Given the description of an element on the screen output the (x, y) to click on. 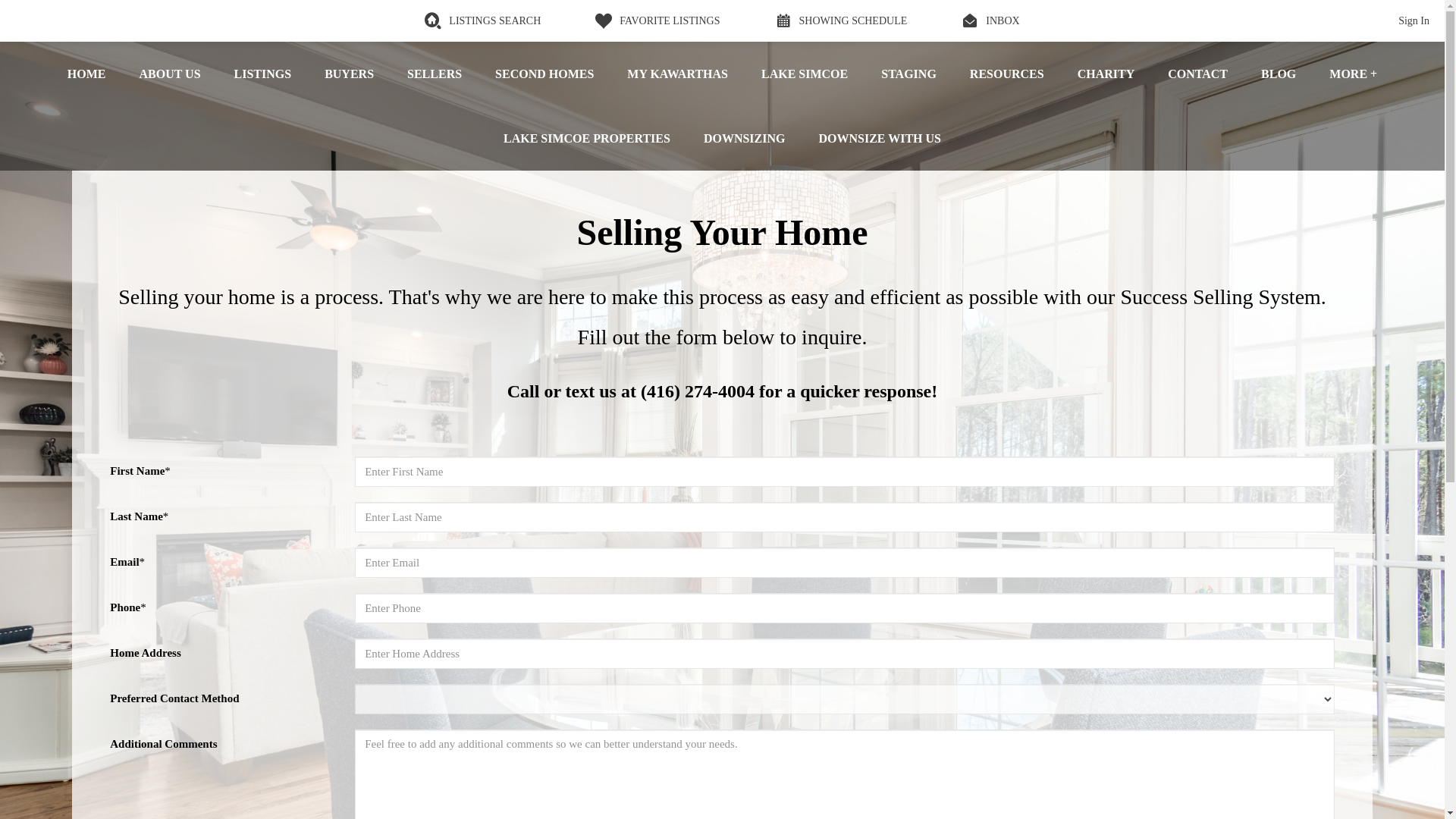
Sellers  (434, 73)
ABOUT US (169, 73)
About Us (169, 73)
LAKE SIMCOE (804, 73)
Home (86, 73)
Favorite Listings (657, 20)
FAVORITE LISTINGS (657, 20)
HOME (86, 73)
LISTINGS (262, 73)
RESOURCES (1007, 73)
INBOX (989, 20)
Inbox (989, 20)
BUYERS (348, 73)
SELLERS (434, 73)
SHOWING SCHEDULE (840, 20)
